Given the description of an element on the screen output the (x, y) to click on. 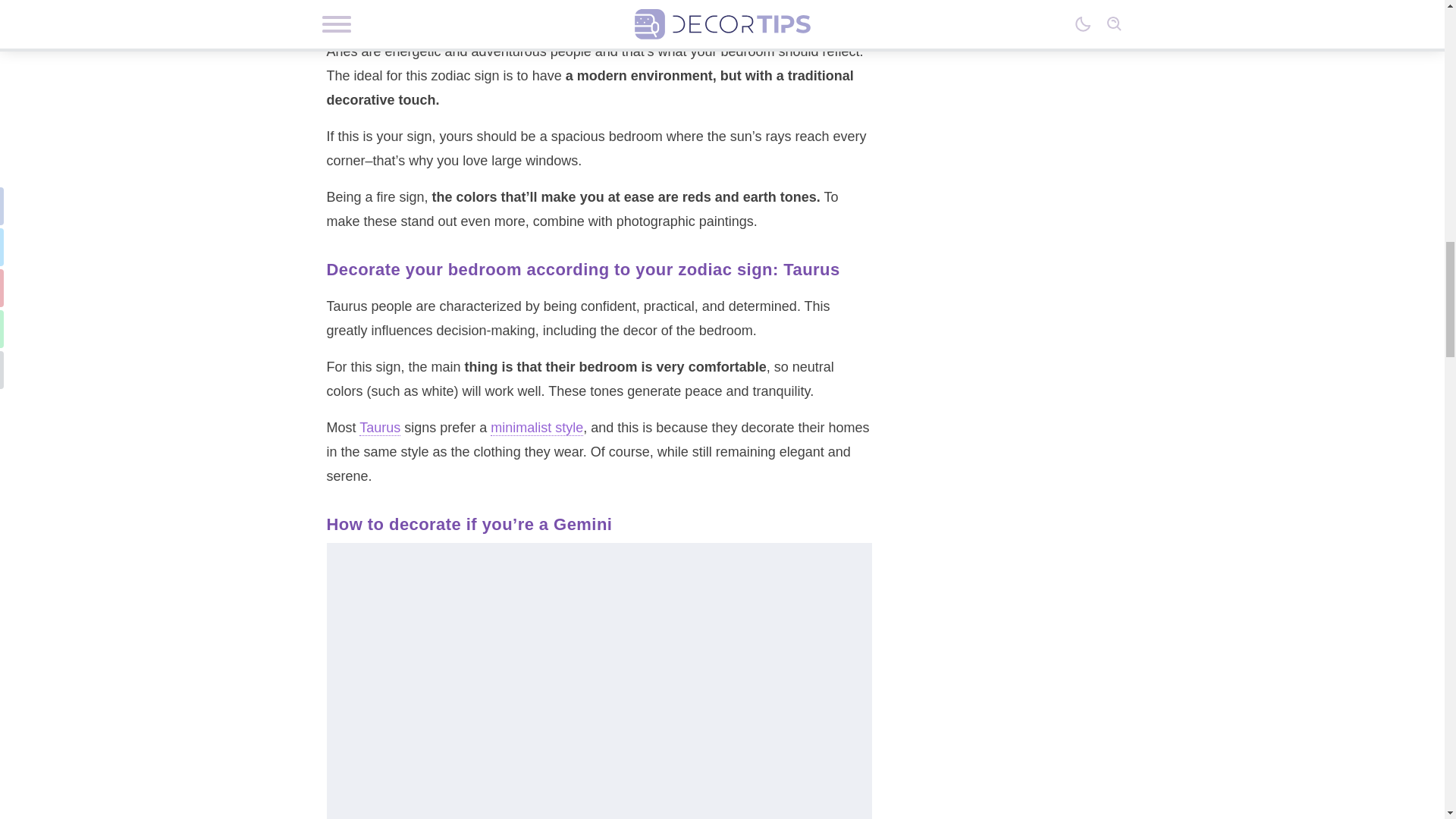
minimalist style (536, 427)
Taurus (379, 427)
